Given the description of an element on the screen output the (x, y) to click on. 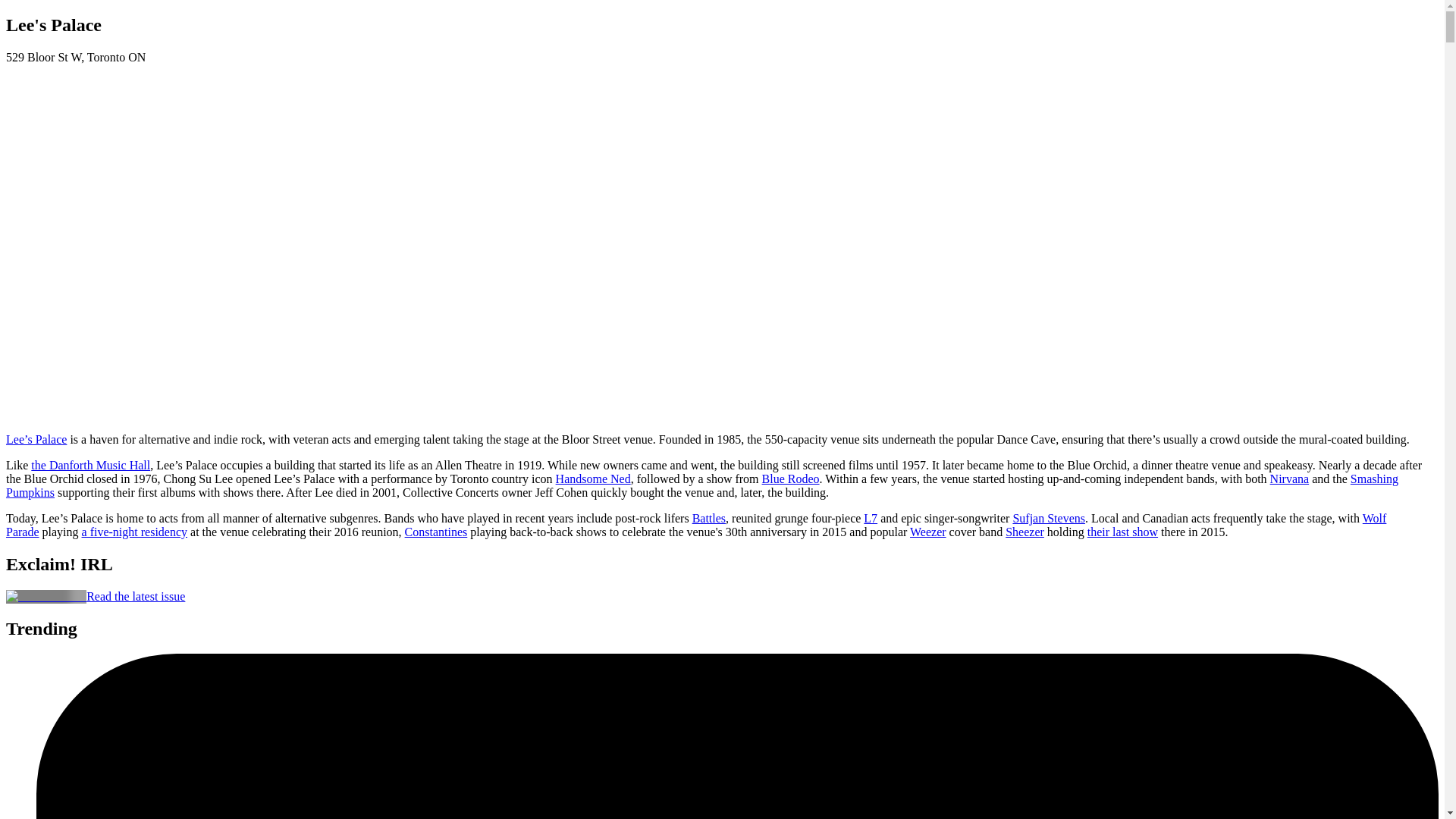
Battles (709, 517)
Smashing Pumpkins (701, 485)
Handsome Ned (593, 478)
their last show (1122, 531)
Blue Rodeo (790, 478)
Constantines (435, 531)
the Danforth Music Hall (89, 464)
Sufjan Stevens (1047, 517)
Read the latest issue (134, 595)
Sheezer (1024, 531)
Weezer (928, 531)
a five-night residency (134, 531)
L7 (870, 517)
Nirvana (1288, 478)
Wolf Parade (695, 524)
